Given the description of an element on the screen output the (x, y) to click on. 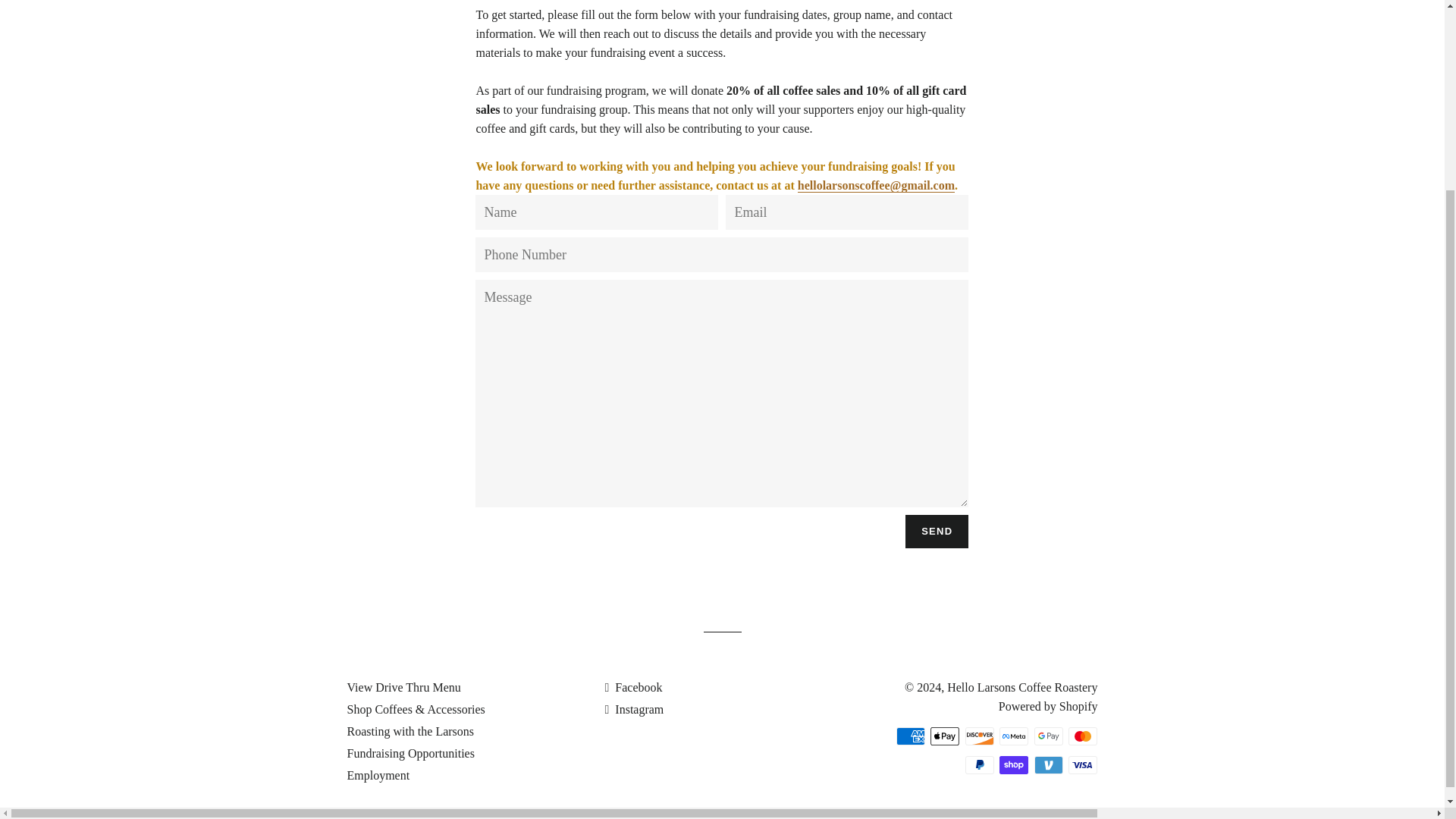
Visa (1082, 764)
Discover (979, 736)
Hello Larsons Coffee Roastery on Facebook (633, 686)
Roasting with the Larsons (410, 730)
Hello Larsons Coffee Roastery on Instagram (633, 708)
Send (936, 531)
View Drive Thru Menu (404, 686)
Google Pay (1047, 736)
Powered by Shopify (1047, 706)
Mastercard (1082, 736)
Instagram (633, 708)
Meta Pay (1012, 736)
Employment (378, 775)
Venmo (1047, 764)
Send (936, 531)
